Given the description of an element on the screen output the (x, y) to click on. 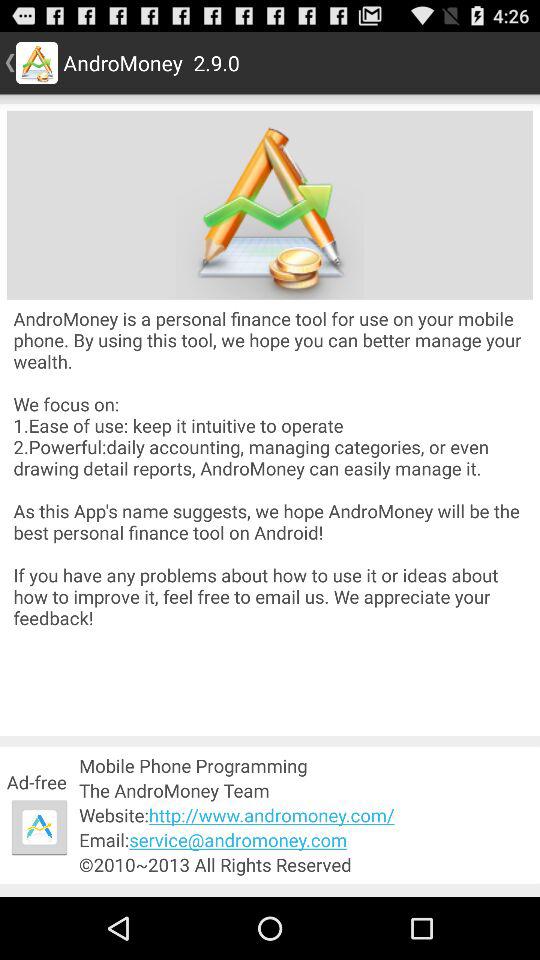
turn on item below ad-free icon (39, 827)
